Given the description of an element on the screen output the (x, y) to click on. 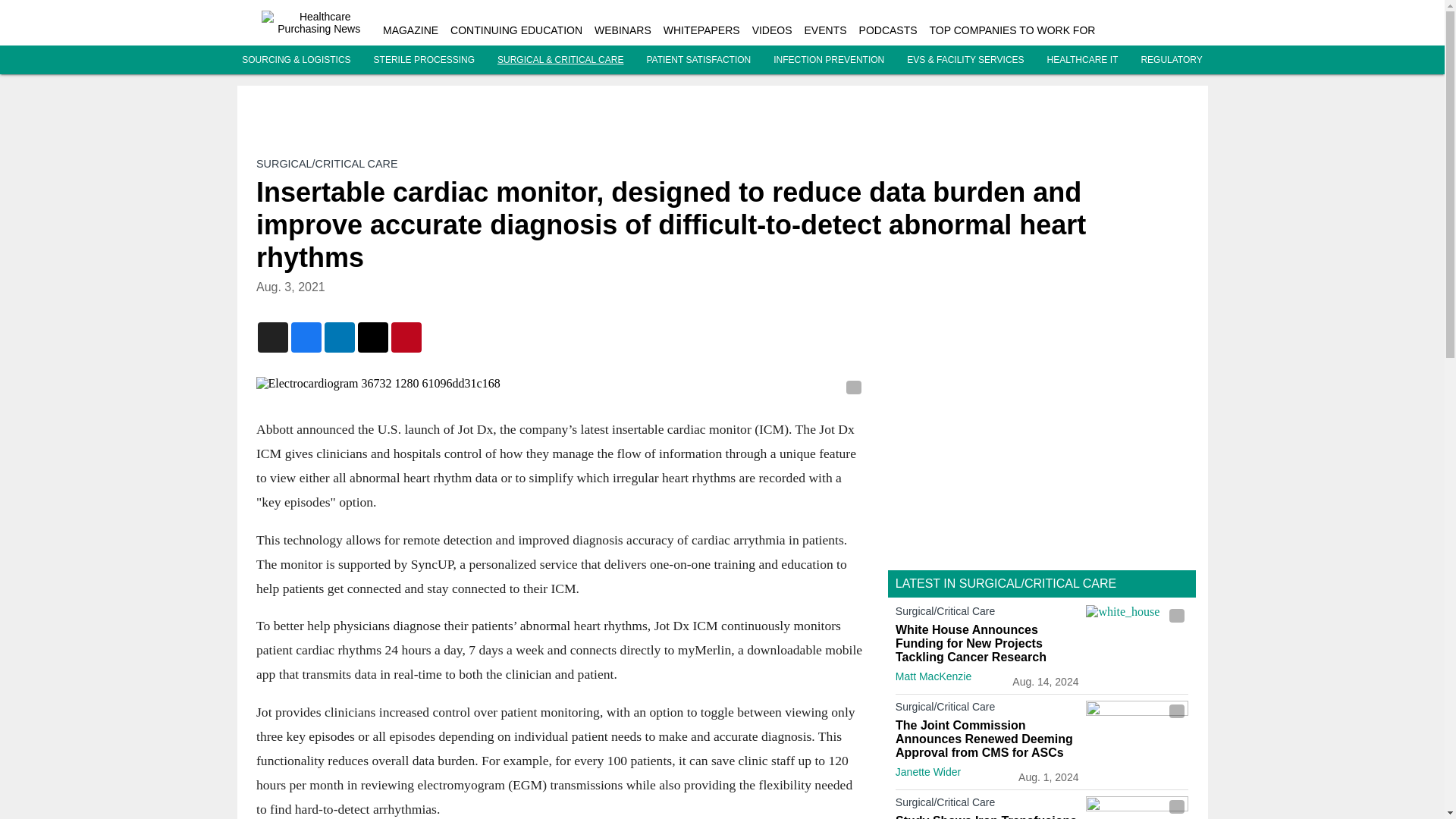
MAGAZINE (410, 30)
INFECTION PREVENTION (828, 59)
CONTINUING EDUCATION (515, 30)
Janette Wider (927, 771)
EVENTS (826, 30)
WEBINARS (622, 30)
VIDEOS (772, 30)
STERILE PROCESSING (424, 59)
